Given the description of an element on the screen output the (x, y) to click on. 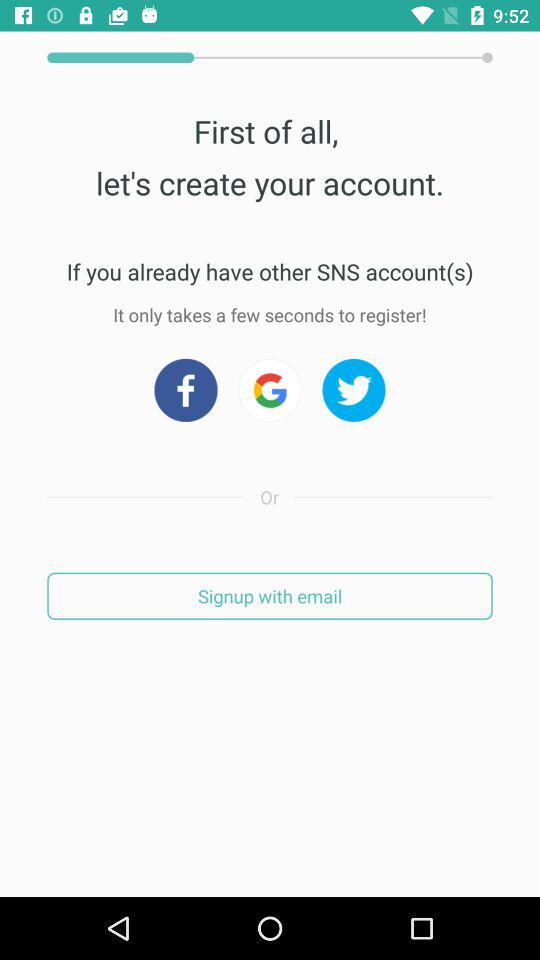
share to twitter (353, 389)
